Given the description of an element on the screen output the (x, y) to click on. 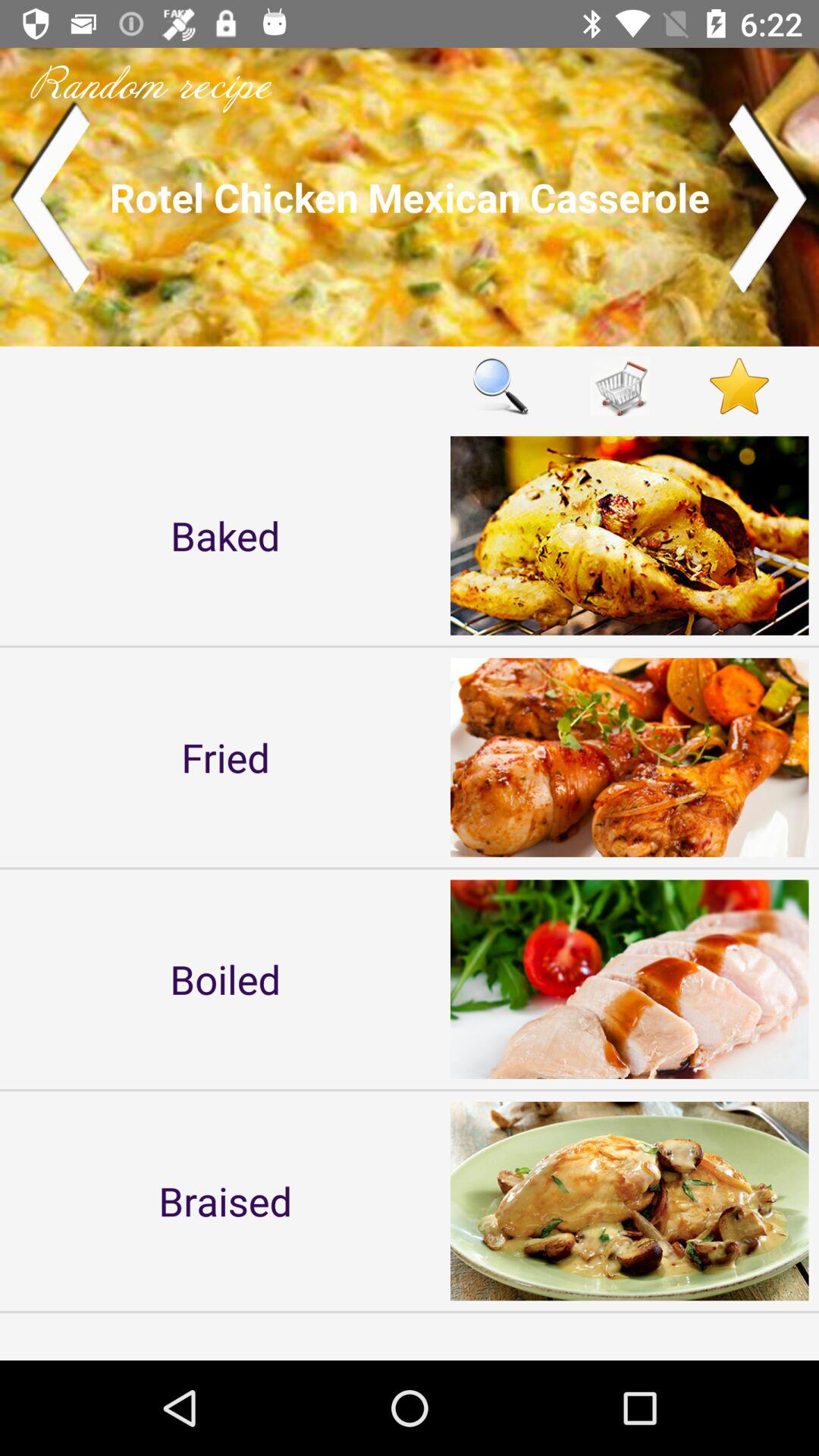
open the icon above the braised item (225, 978)
